Given the description of an element on the screen output the (x, y) to click on. 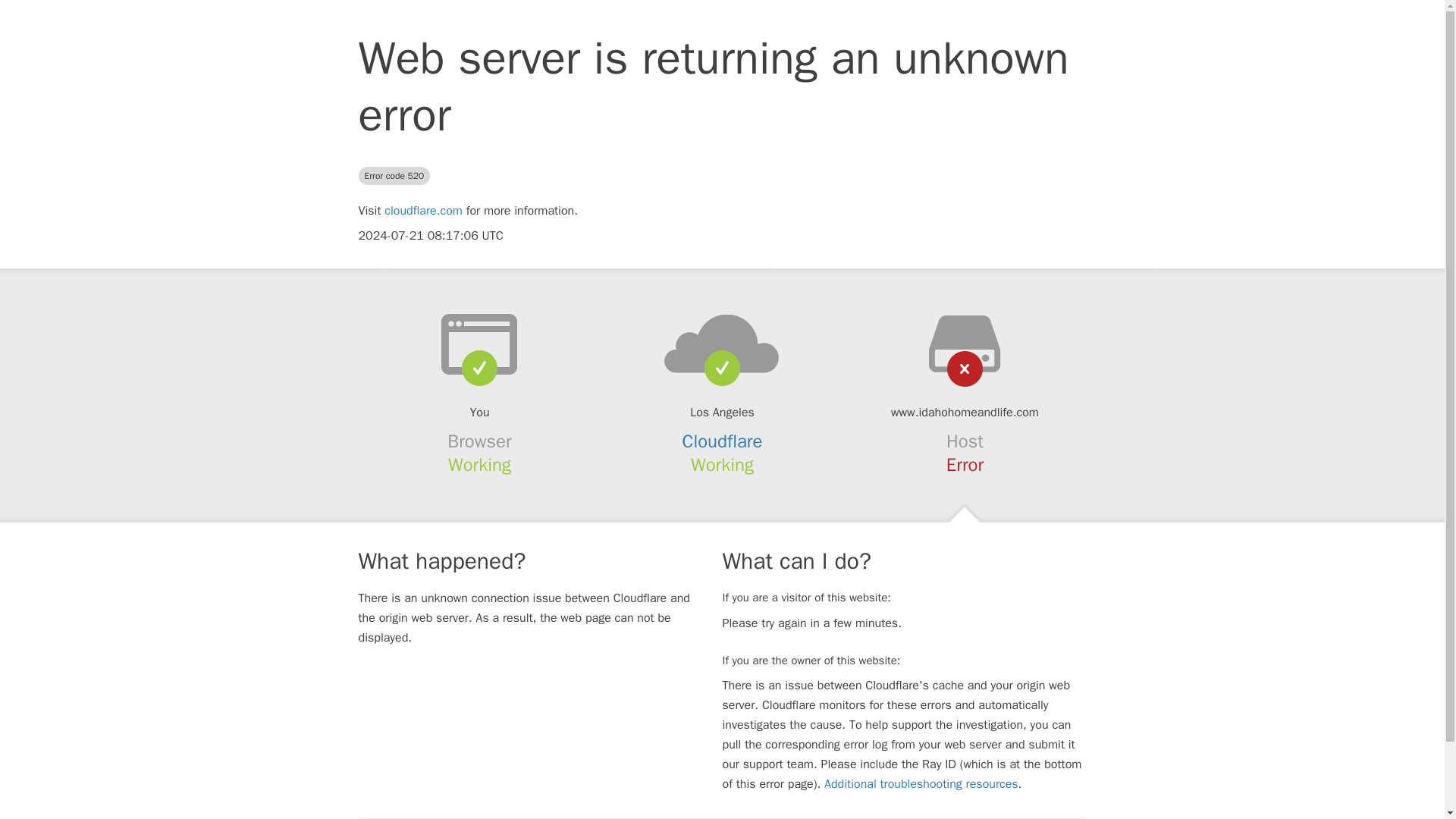
Additional troubleshooting resources (920, 783)
Cloudflare (722, 440)
cloudflare.com (423, 210)
